Given the description of an element on the screen output the (x, y) to click on. 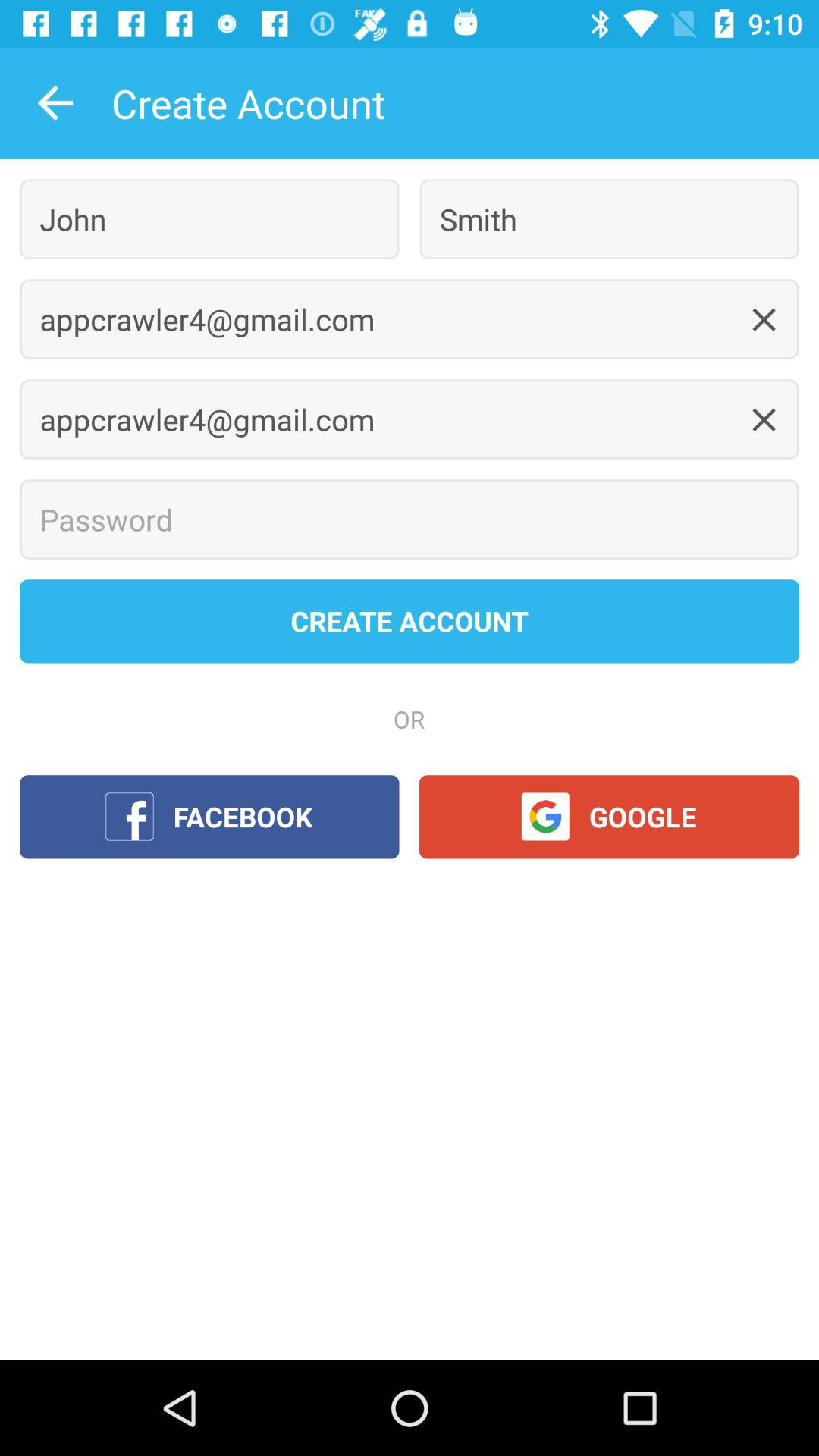
select item to the left of create account icon (55, 103)
